Given the description of an element on the screen output the (x, y) to click on. 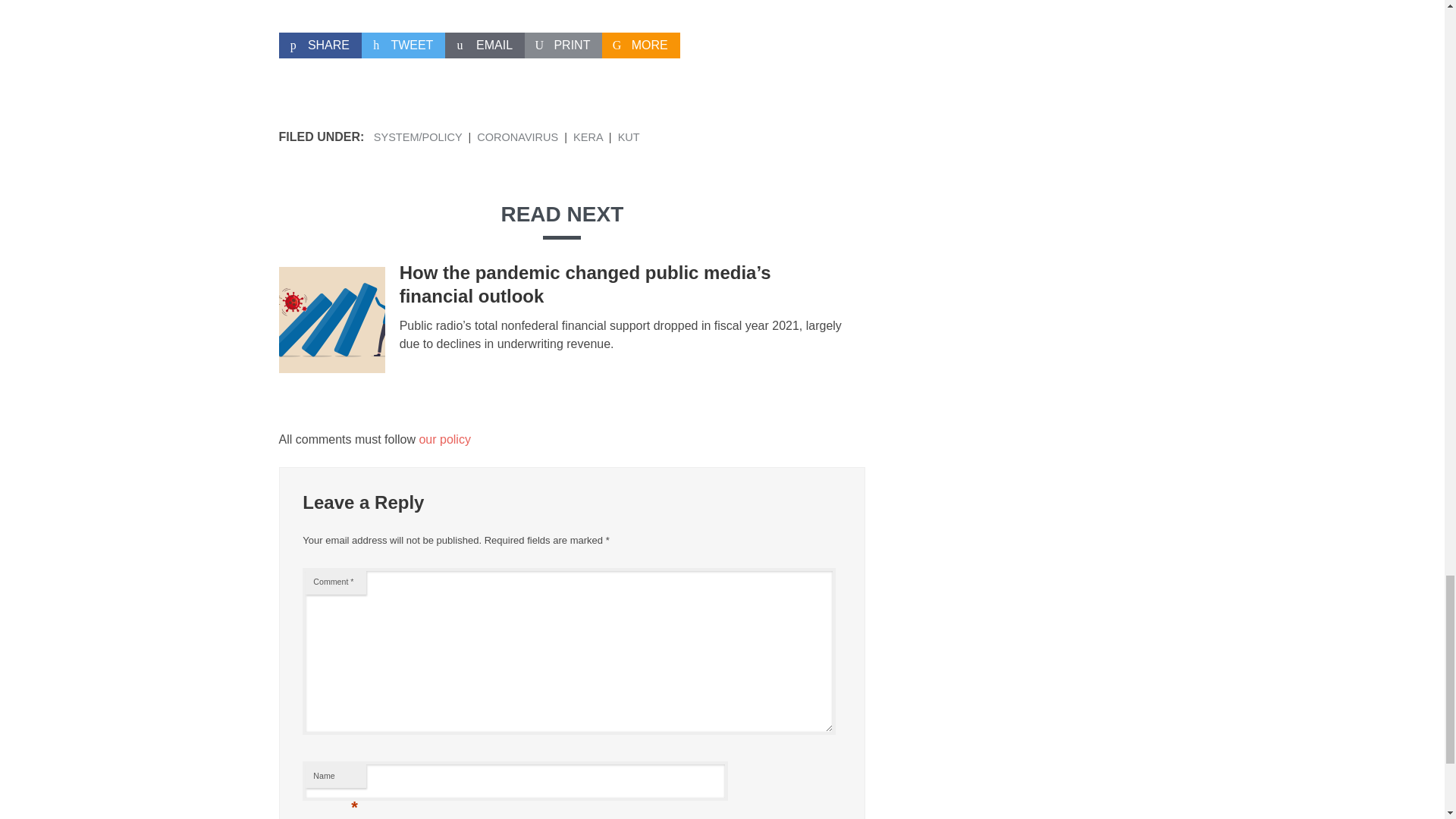
Read:  (584, 284)
Read Posts tagged with: Coronavirus (517, 137)
Read Posts tagged with: KUT (628, 137)
Print this article (563, 45)
Read Posts tagged with: KERA (587, 137)
